Given the description of an element on the screen output the (x, y) to click on. 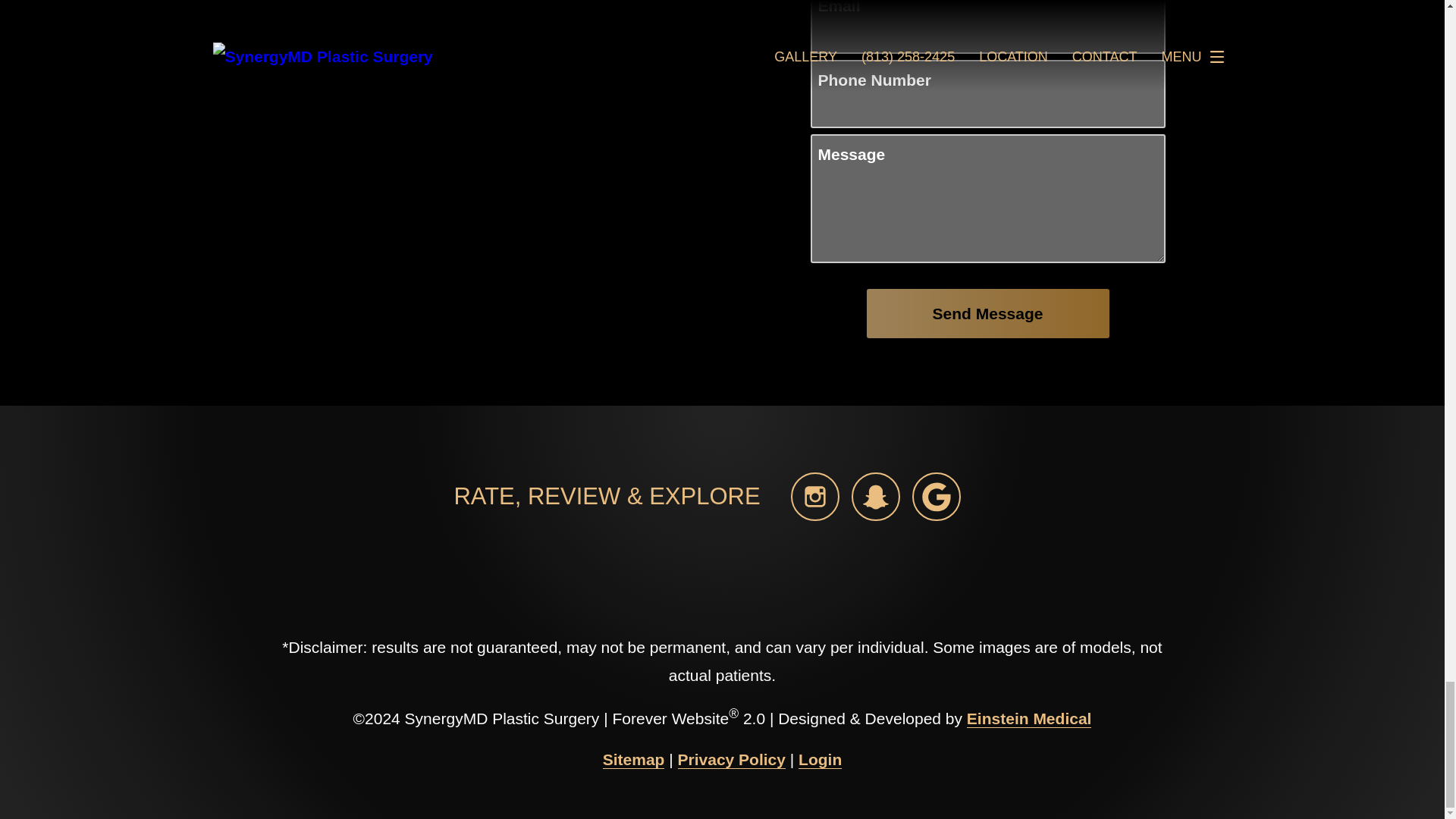
Google (936, 496)
Sitemap (633, 760)
Instagram (815, 496)
Send Message (987, 313)
Einstein Medical (1029, 719)
Login (819, 760)
Privacy Policy (732, 760)
Snapchat (875, 496)
